Given the description of an element on the screen output the (x, y) to click on. 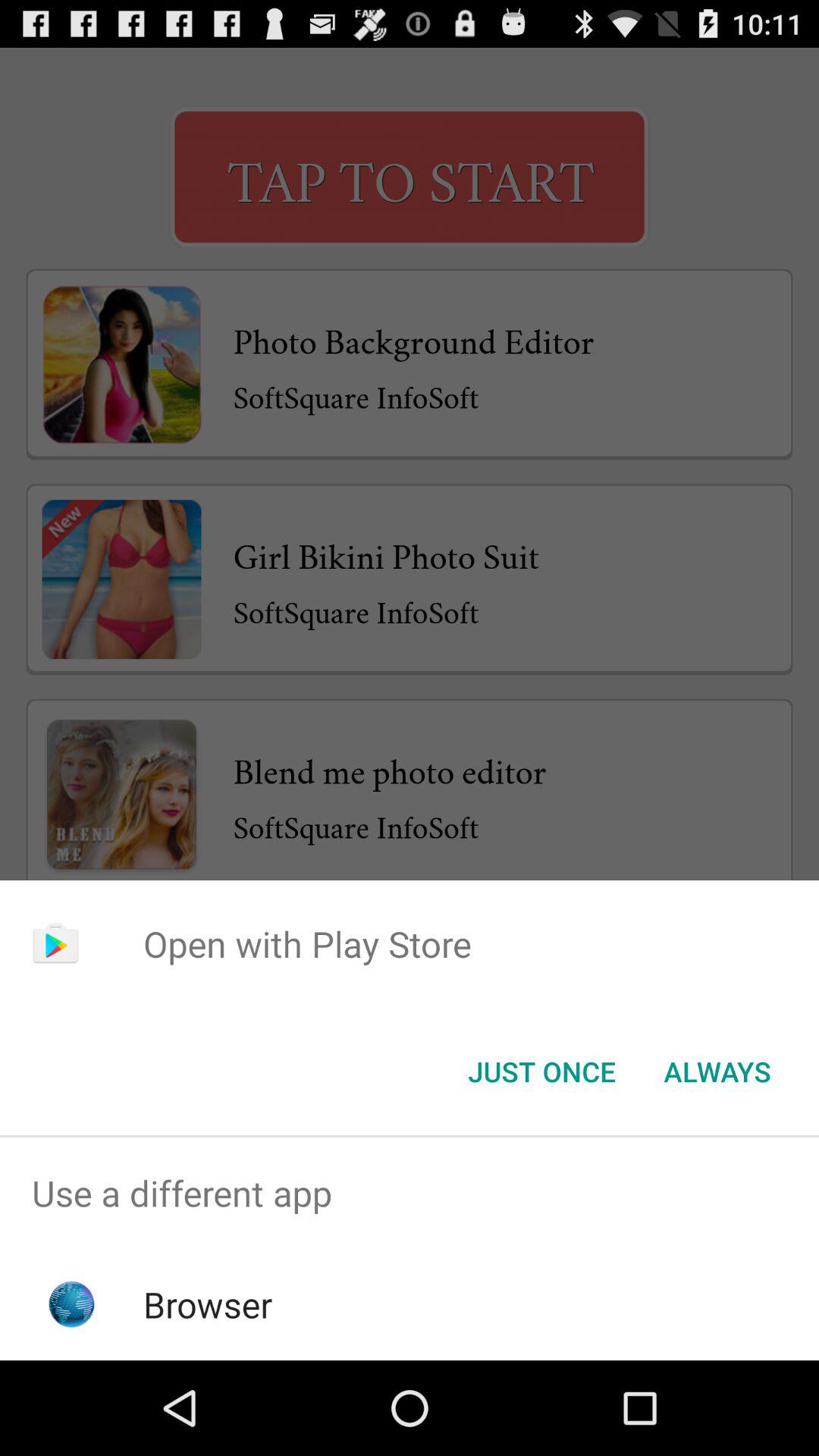
open the always icon (717, 1071)
